Given the description of an element on the screen output the (x, y) to click on. 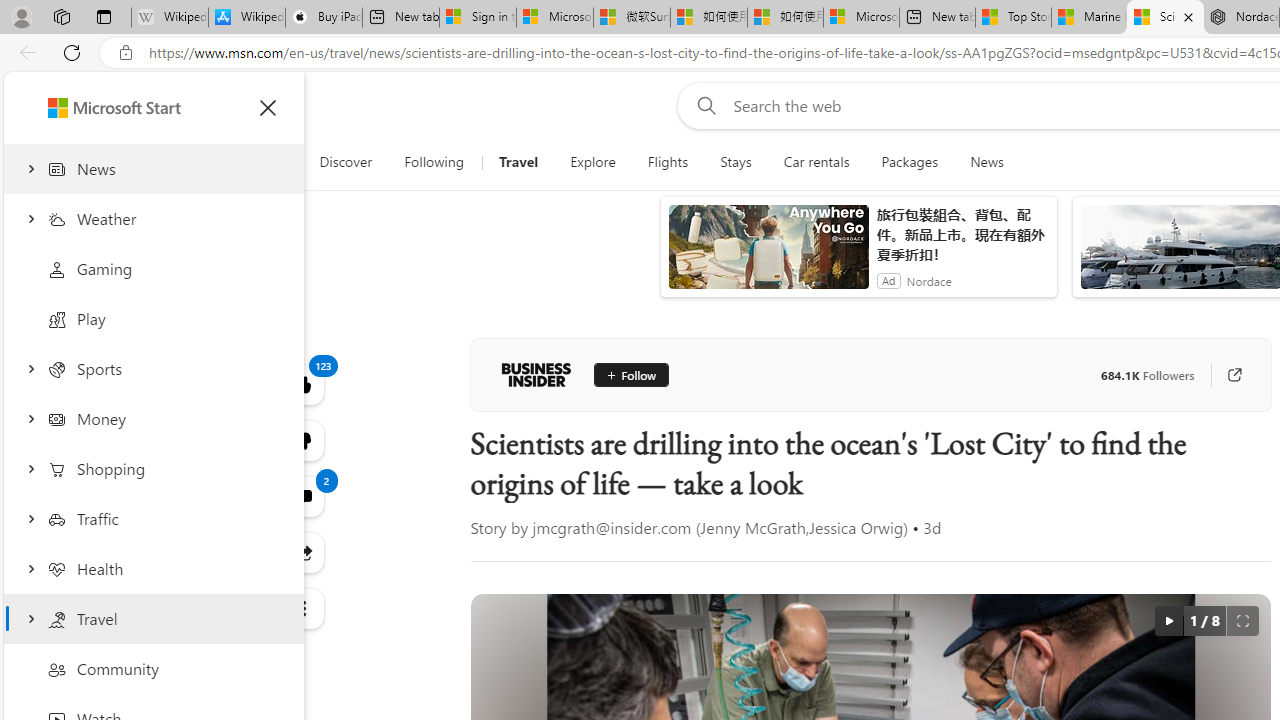
Car rentals (816, 162)
Packages (909, 162)
Packages (909, 162)
123 Like (302, 384)
Business Insider (536, 374)
Car rentals (816, 162)
Go to publisher's site (1234, 374)
